Given the description of an element on the screen output the (x, y) to click on. 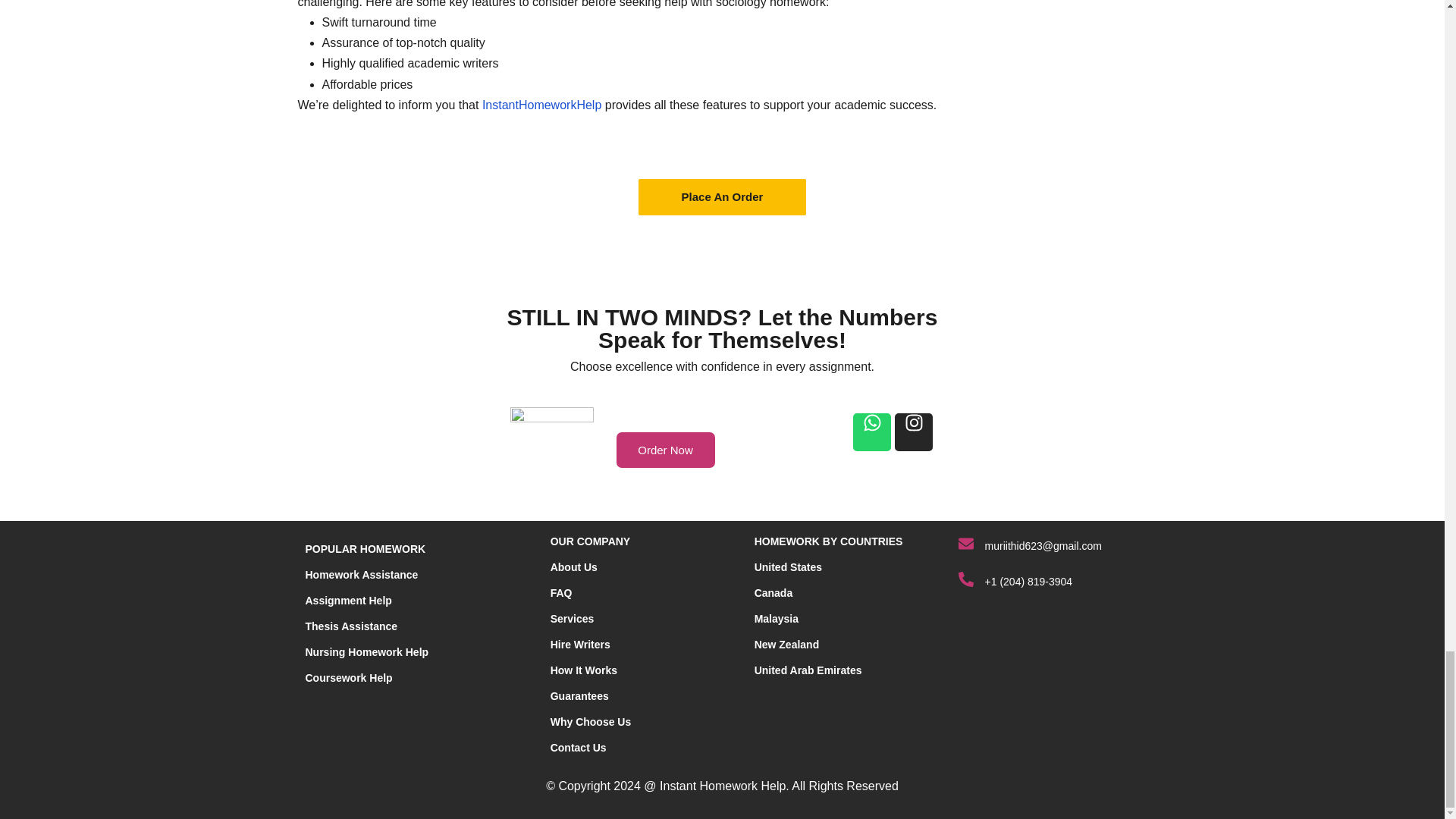
Contact Us (578, 747)
InstantHomeworkHelp (541, 104)
Services (572, 618)
Coursework Help (347, 677)
Nursing Homework Help (366, 652)
About Us (573, 567)
Order Now (664, 449)
Assignment Help (347, 600)
FAQ (561, 592)
Guarantees (579, 695)
Thesis Assistance (350, 625)
Homework Assistance (360, 574)
Place An Order (722, 196)
Hire Writers (580, 644)
Why Choose Us (590, 721)
